Given the description of an element on the screen output the (x, y) to click on. 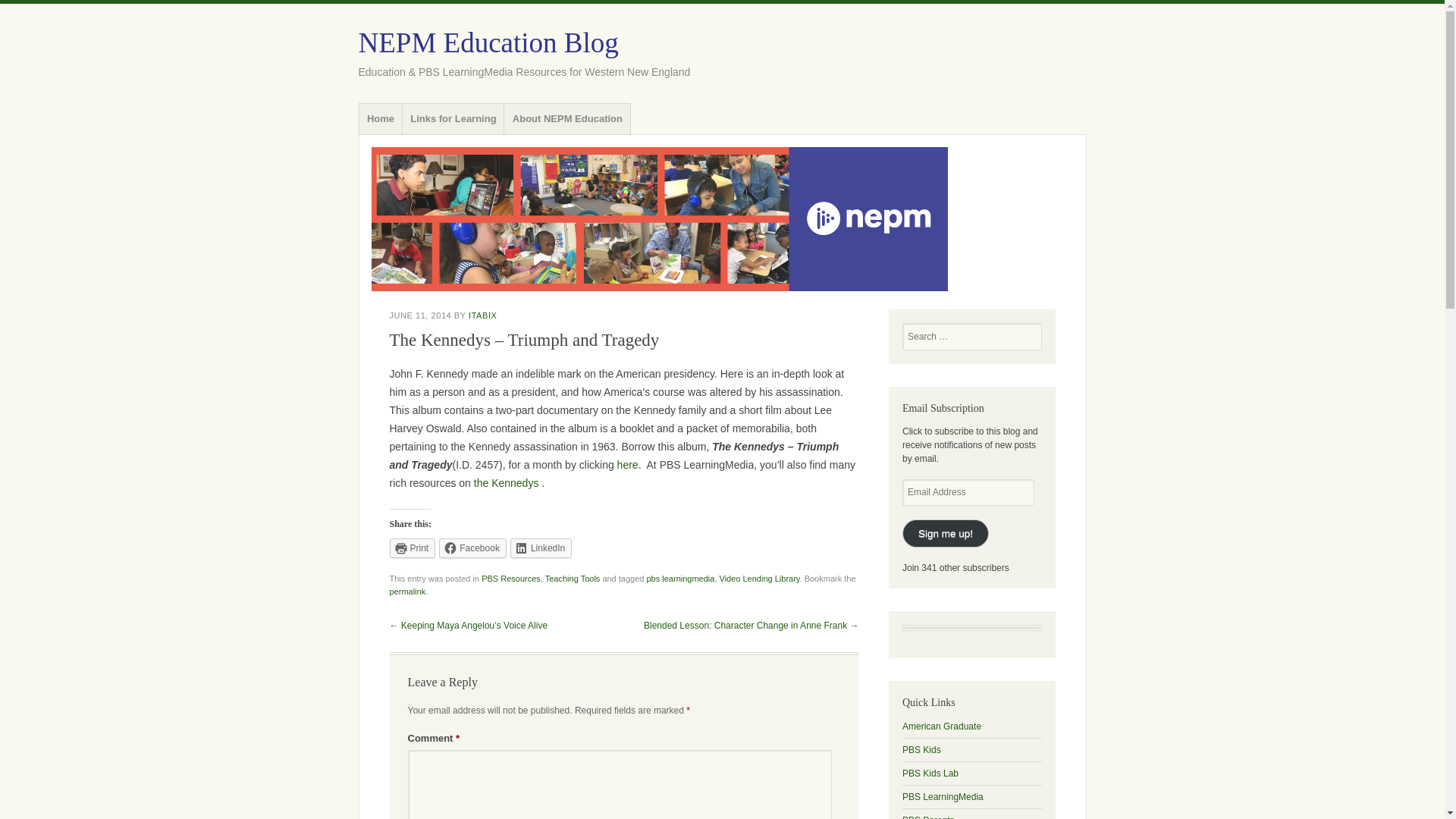
Home (380, 119)
Links for Learning (453, 119)
American Graduate (941, 726)
Click to share on Facebook (472, 547)
Teaching Tools (571, 578)
Video Lending Library (759, 578)
View all posts by itabix (482, 315)
NEPM Education Blog (722, 219)
the Kennedys (506, 482)
PBS Resources (510, 578)
